Given the description of an element on the screen output the (x, y) to click on. 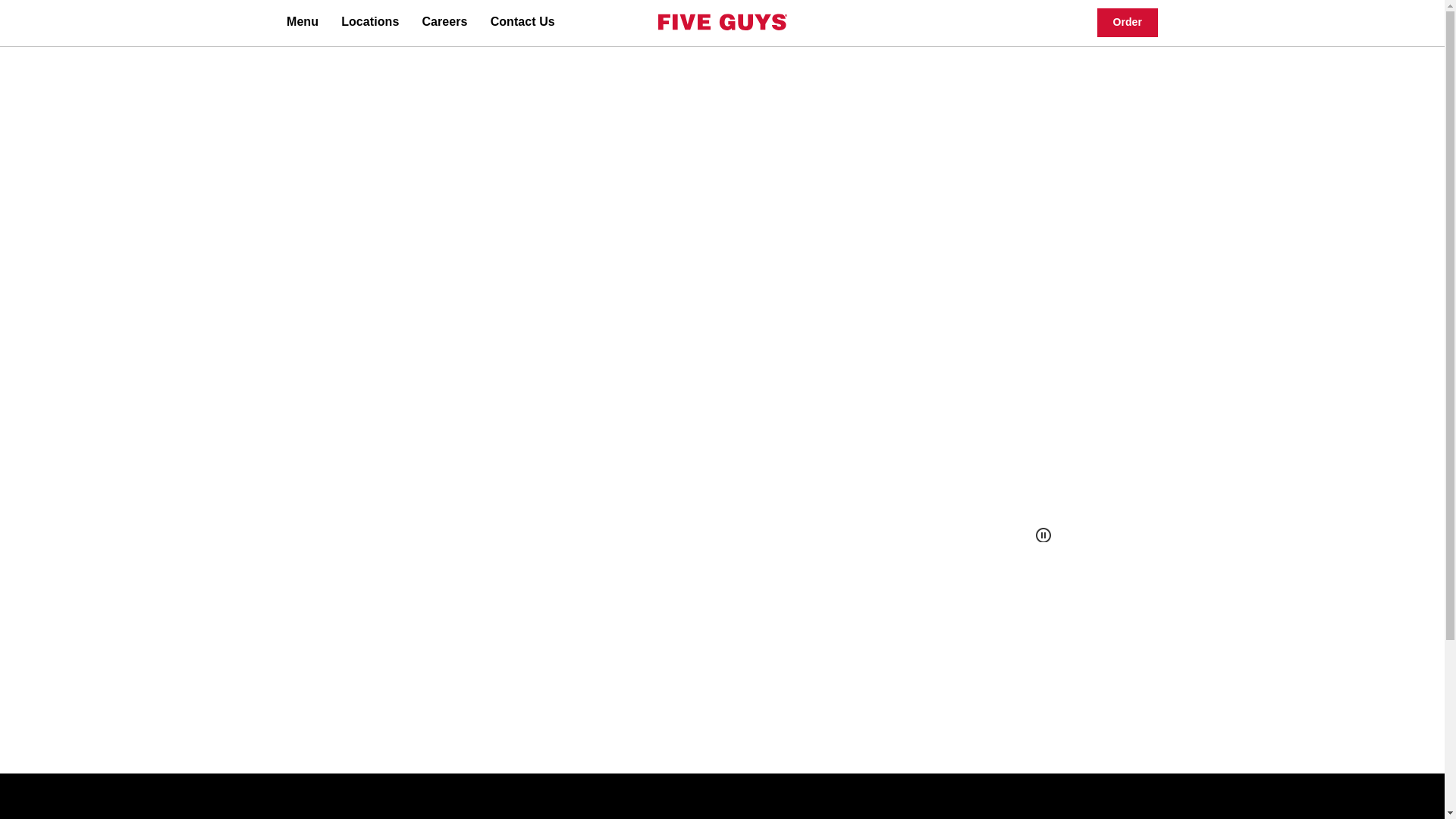
Careers Element type: text (444, 21)
OUR STORY Element type: text (513, 513)
Pause Element type: text (1043, 534)
Contact Us Element type: text (522, 21)
Previous Element type: text (1076, 297)
Next Element type: text (1395, 297)
Locations Element type: text (369, 21)
Menu Element type: text (302, 21)
Order Element type: text (1127, 22)
